Given the description of an element on the screen output the (x, y) to click on. 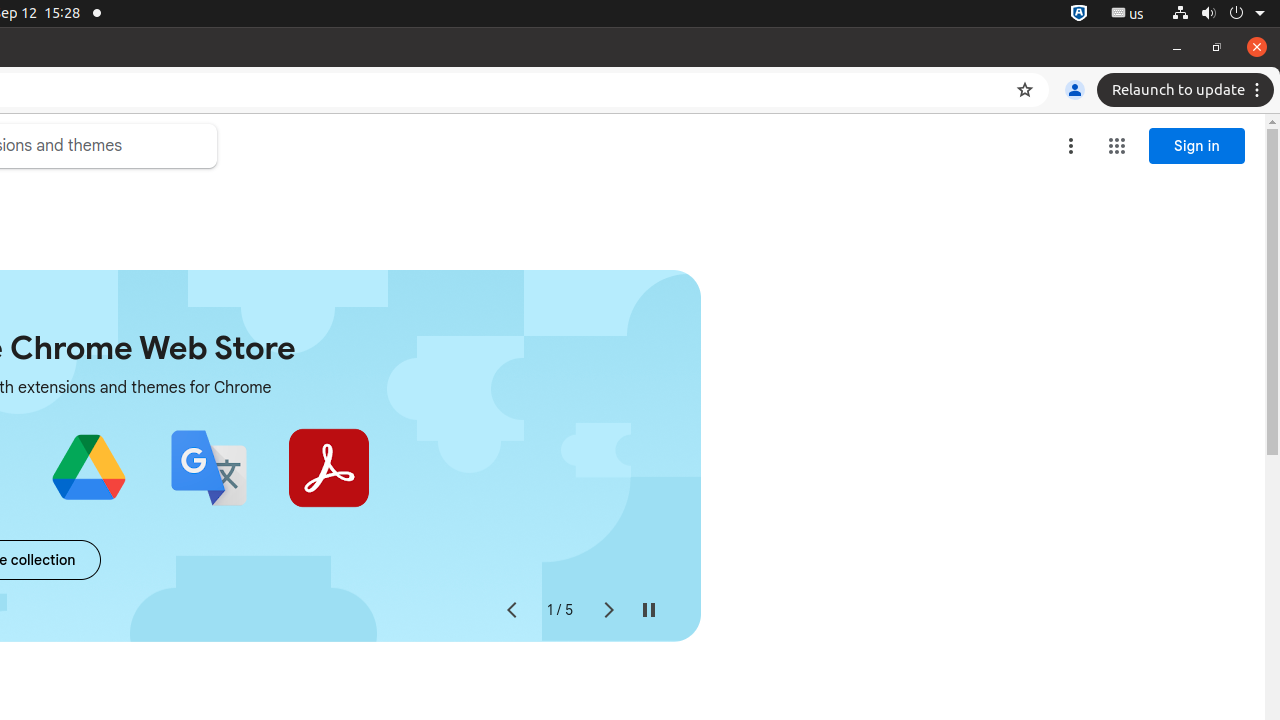
:1.21/StatusNotifierItem Element type: menu (1127, 13)
Pause auto-play Element type: push-button (648, 610)
Next slide Element type: push-button (608, 610)
System Element type: menu (1218, 13)
You Element type: push-button (1075, 90)
